Given the description of an element on the screen output the (x, y) to click on. 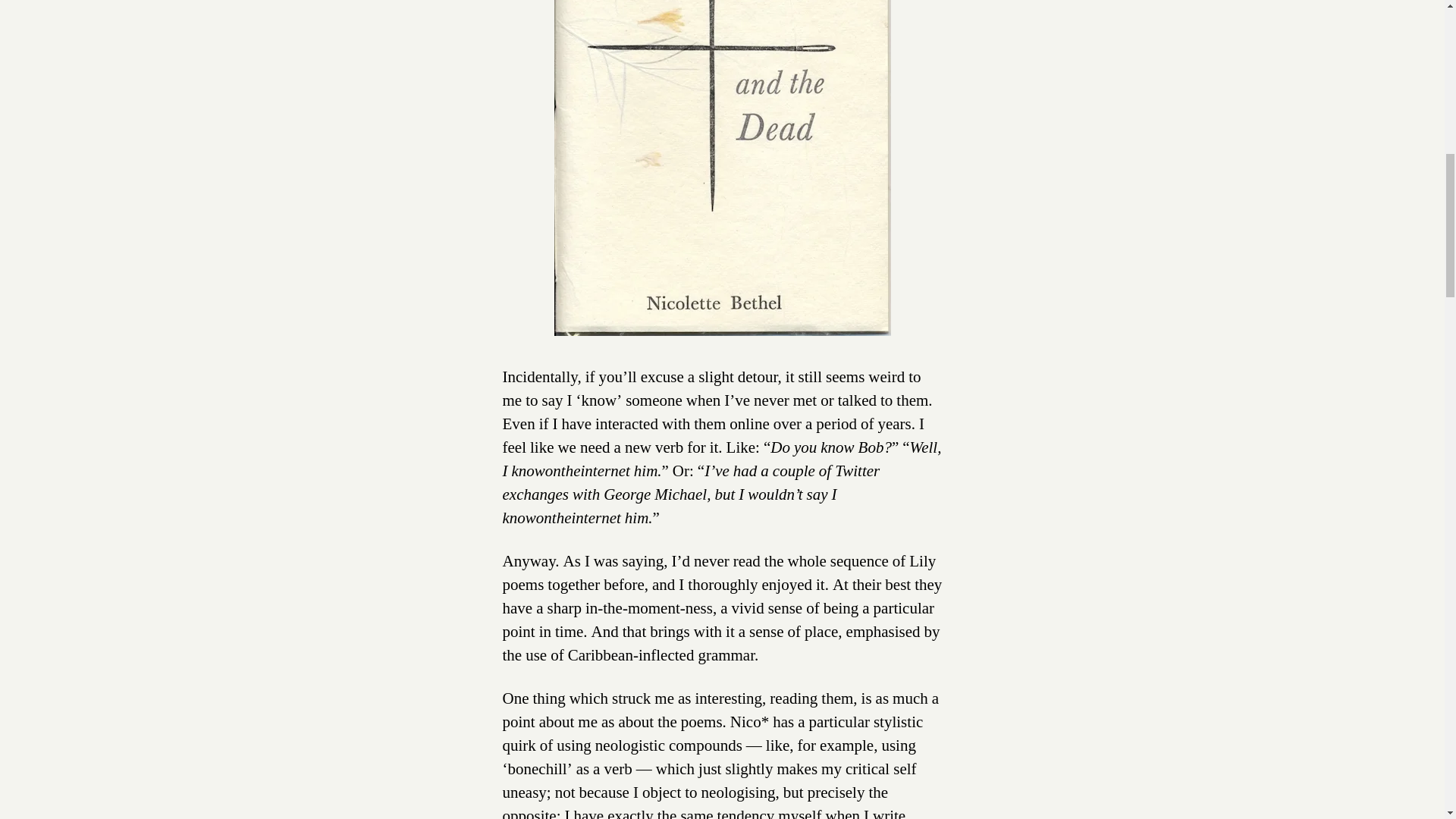
MLatD2 (721, 167)
